Given the description of an element on the screen output the (x, y) to click on. 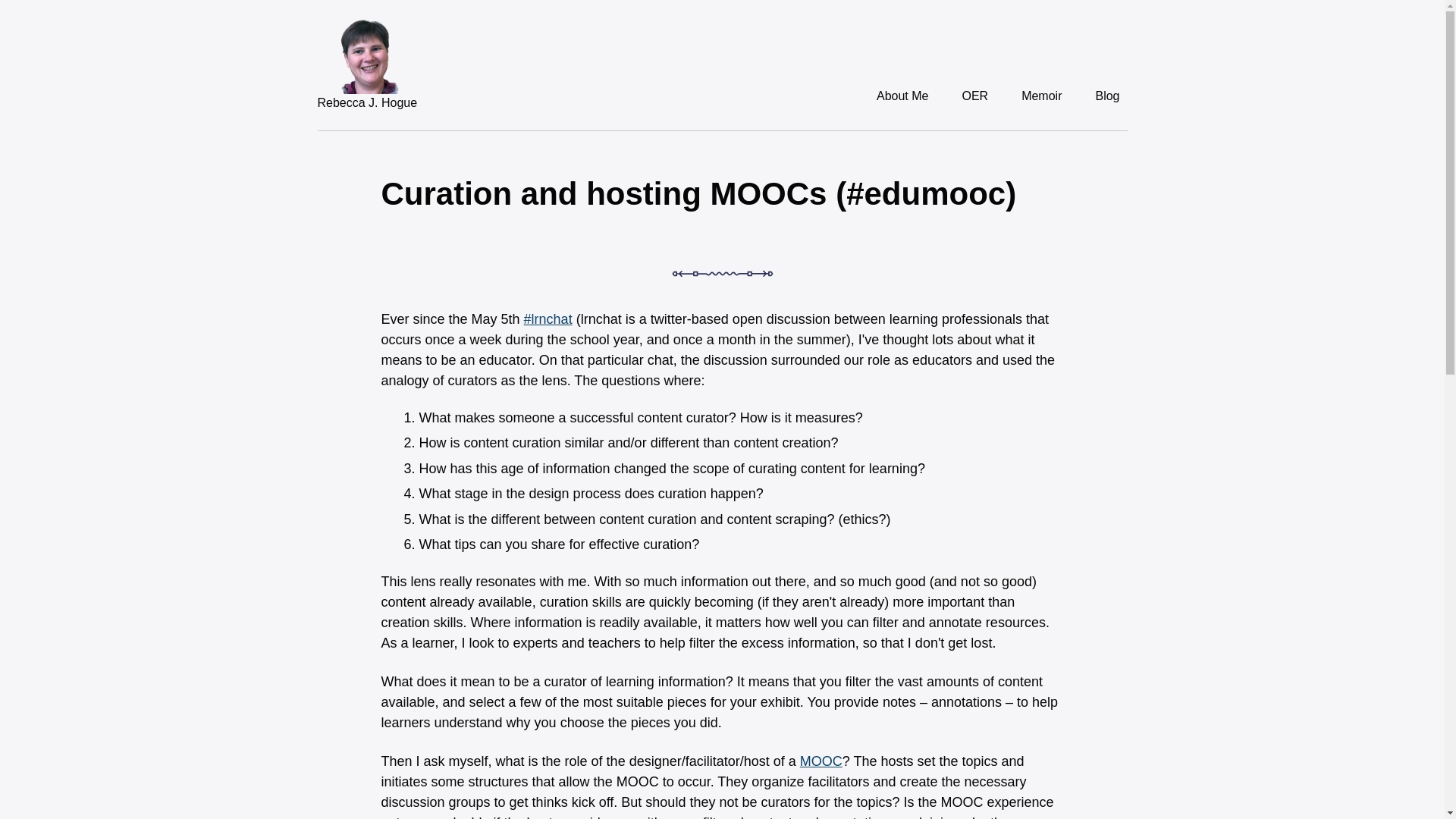
Rebecca J. Hogue (366, 102)
